Given the description of an element on the screen output the (x, y) to click on. 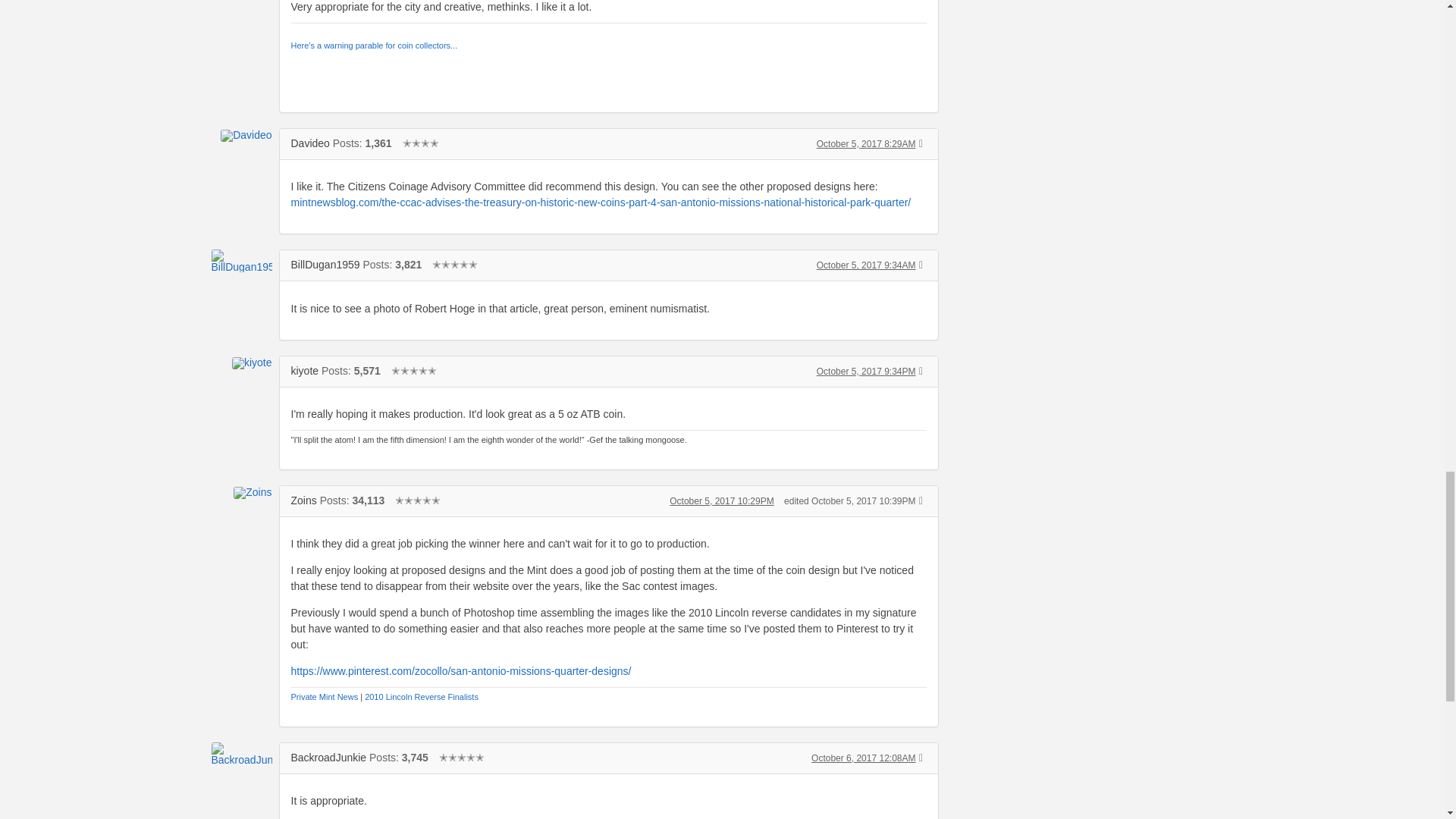
Here's a warning parable for coin collectors... (374, 44)
